Given the description of an element on the screen output the (x, y) to click on. 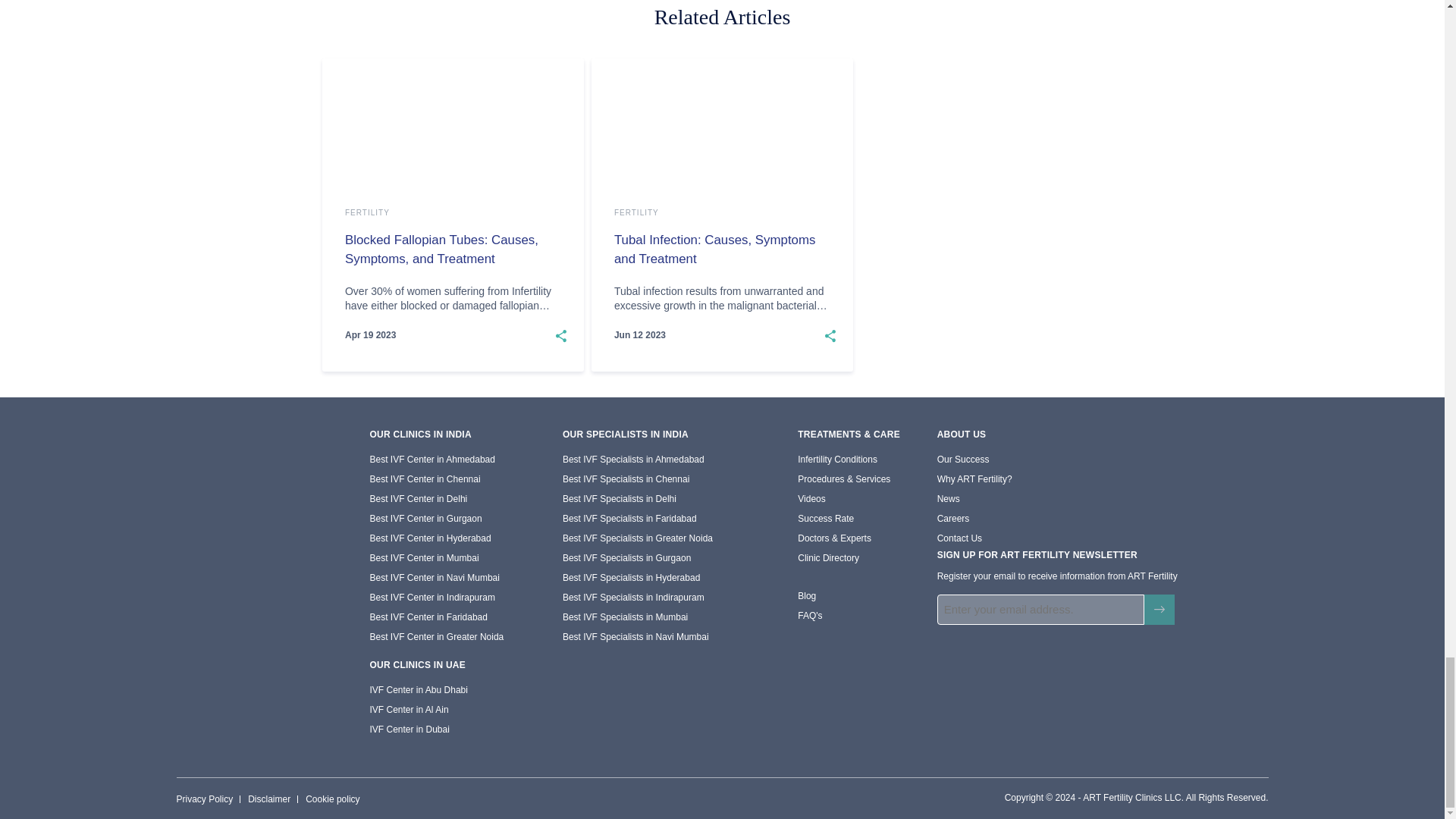
Art Fertility Clinics (227, 445)
